Given the description of an element on the screen output the (x, y) to click on. 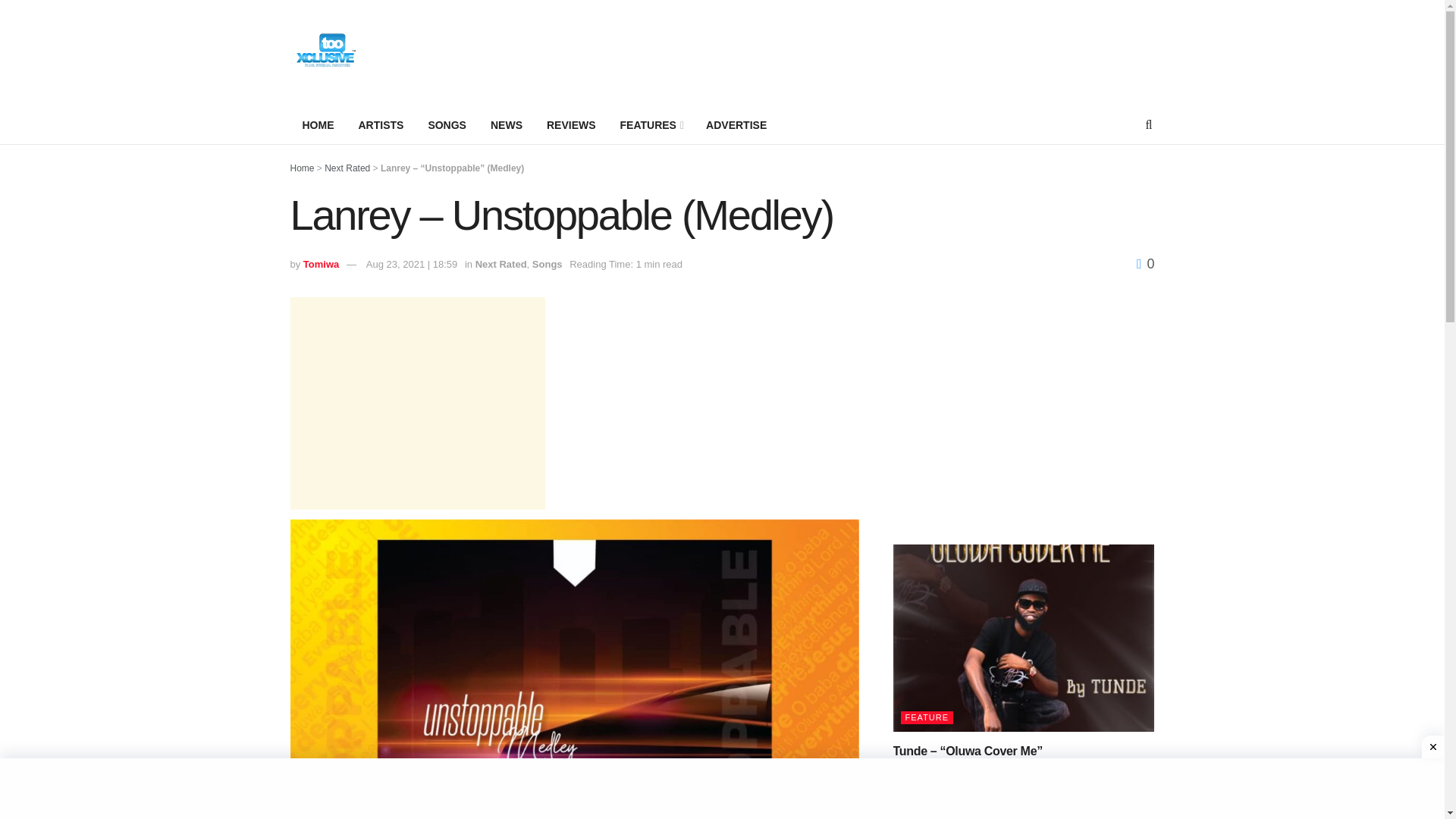
ARTISTS (380, 125)
Next Rated (501, 264)
Artists (380, 125)
Next Rated (346, 167)
HOME (317, 125)
Home (301, 167)
NEWS (506, 125)
Advertisement (878, 50)
Advertisement (1023, 403)
REVIEWS (571, 125)
Songs (547, 264)
SONGS (446, 125)
Advertisement (416, 403)
Advertisement (722, 788)
ADVERTISE (736, 125)
